Given the description of an element on the screen output the (x, y) to click on. 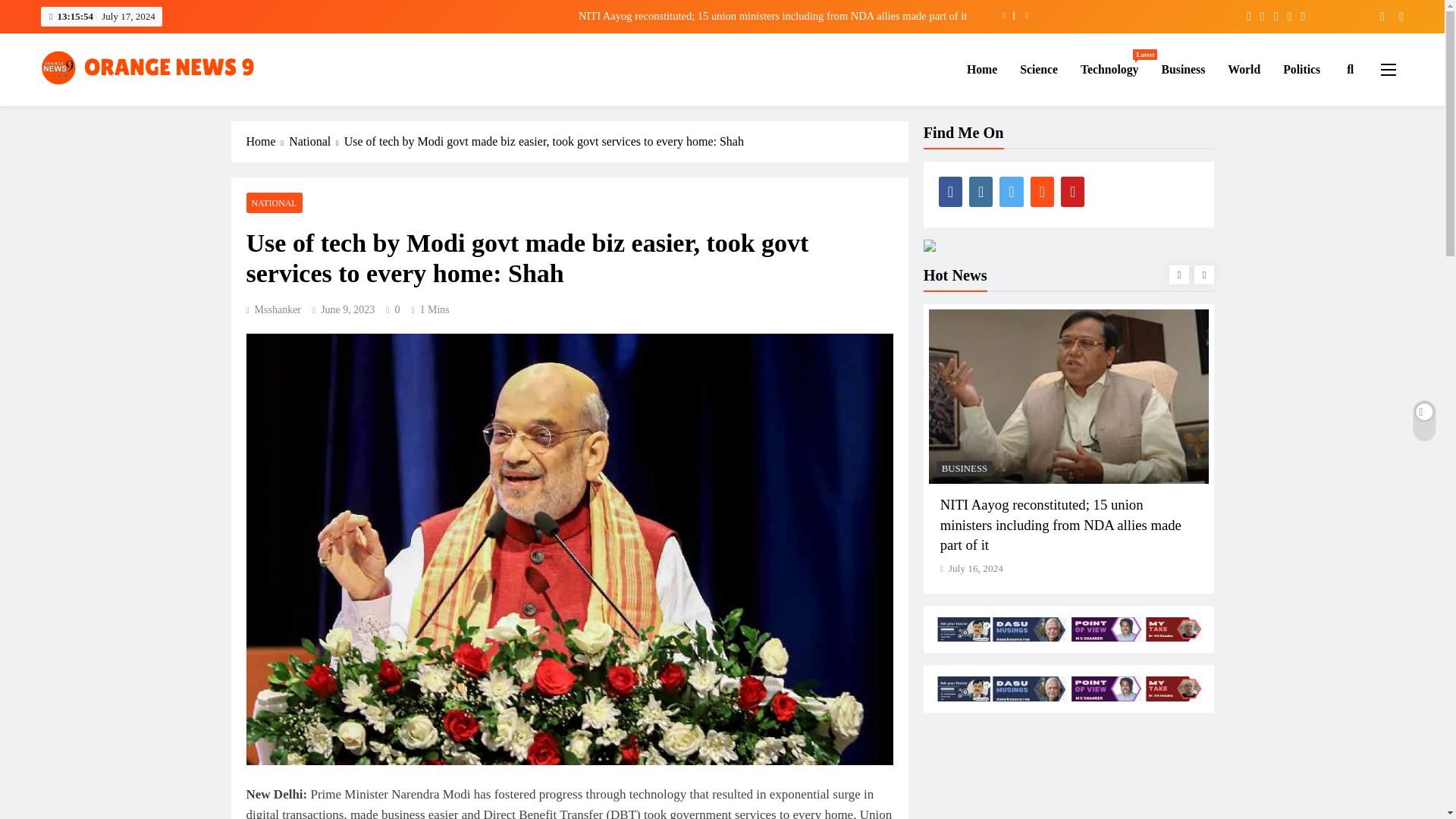
Home (982, 69)
Business (1182, 69)
Science (1038, 69)
Politics (1301, 69)
World (1243, 69)
OrangeNews9 (111, 107)
